Given the description of an element on the screen output the (x, y) to click on. 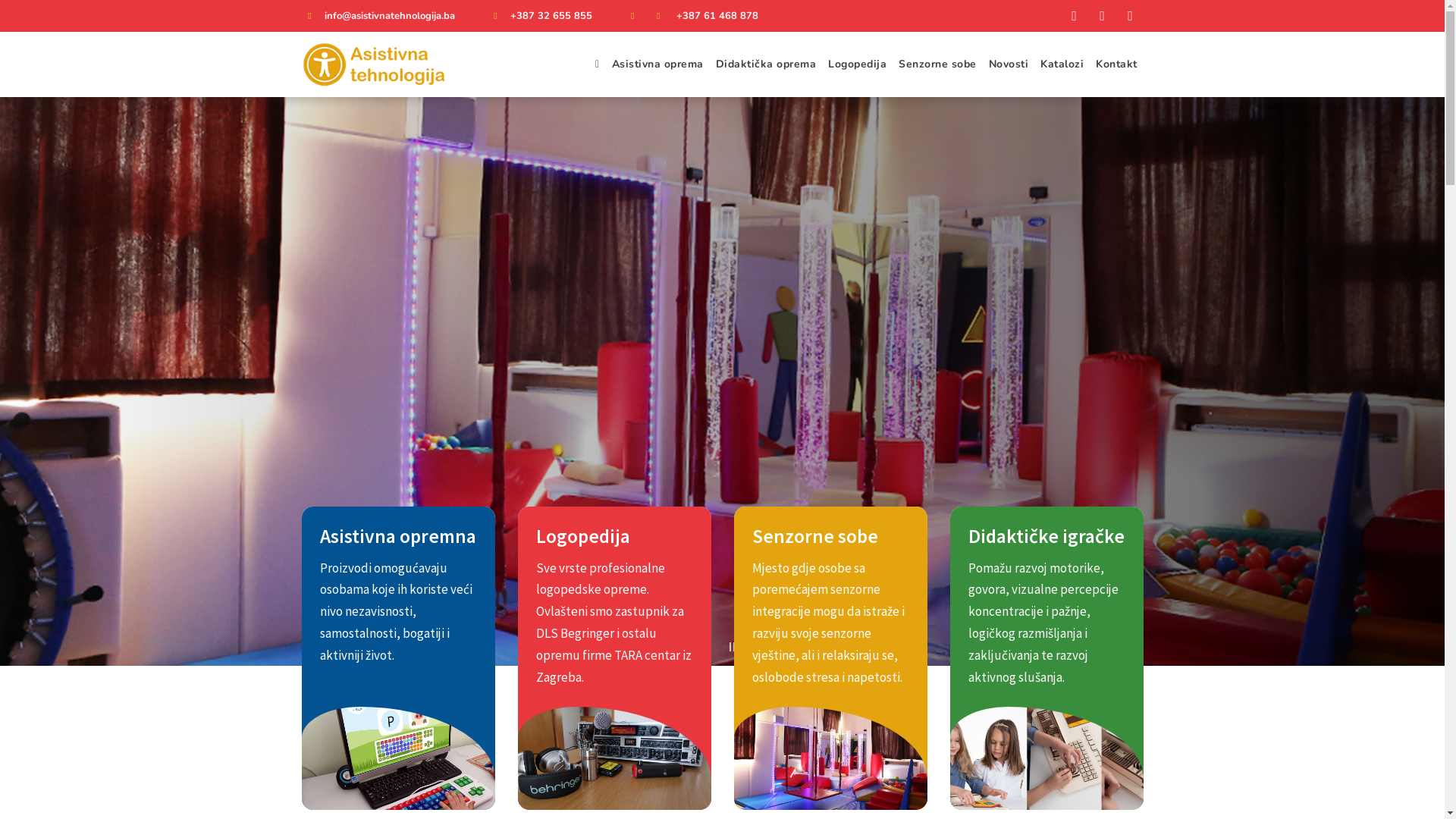
Instagram Element type: hover (1130, 15)
Senzorne sobe Element type: text (937, 64)
Novosti Element type: text (1008, 64)
Logopedija Element type: text (857, 64)
Asistivna oprema Element type: text (657, 64)
info@asistivnatehnologija.ba Element type: text (389, 15)
Katalozi Element type: text (1061, 64)
Kontakt Element type: text (1116, 64)
Facebook Element type: hover (1074, 15)
Viber Element type: hover (1101, 15)
